Given the description of an element on the screen output the (x, y) to click on. 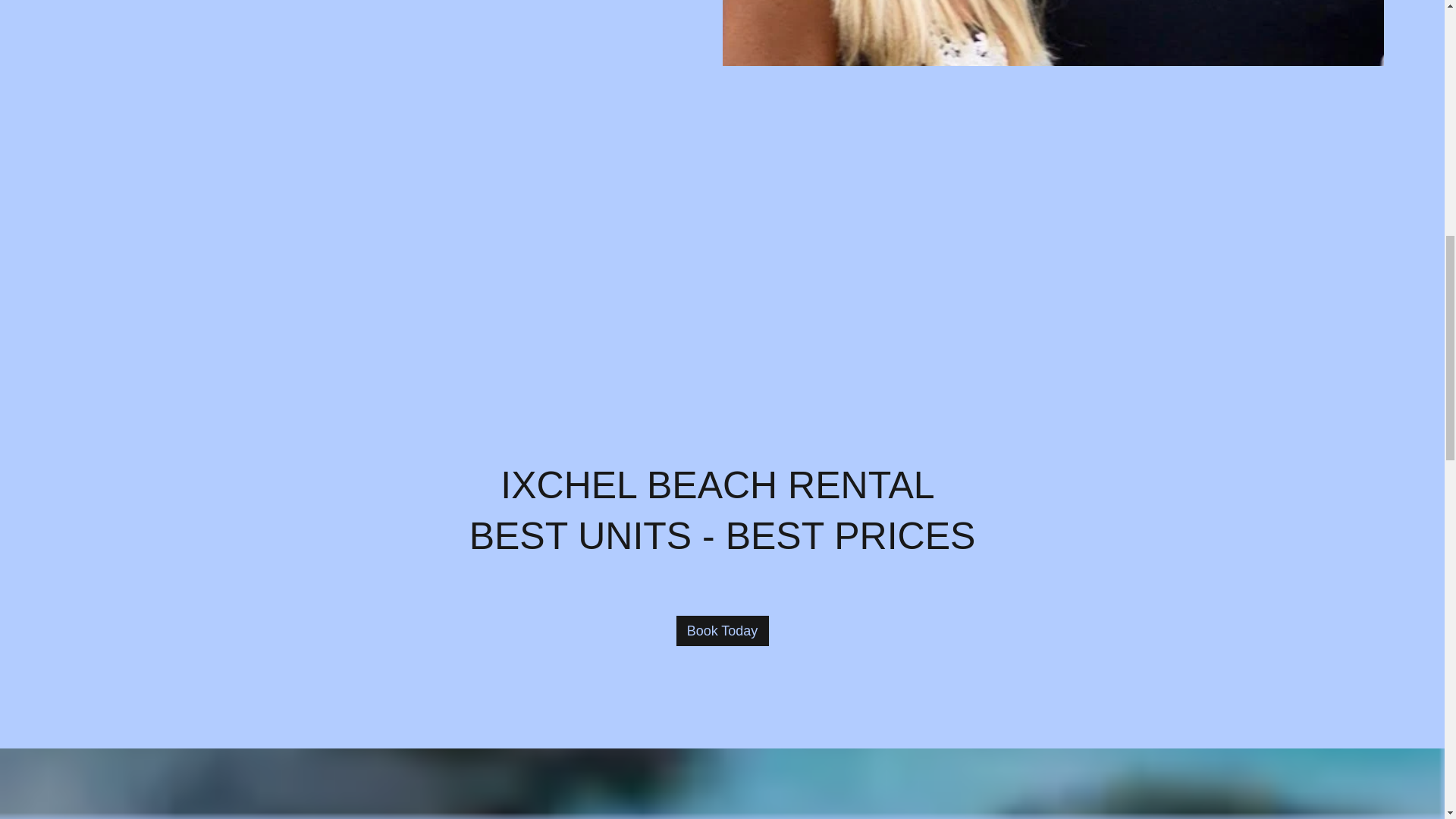
Book Today (722, 630)
